Given the description of an element on the screen output the (x, y) to click on. 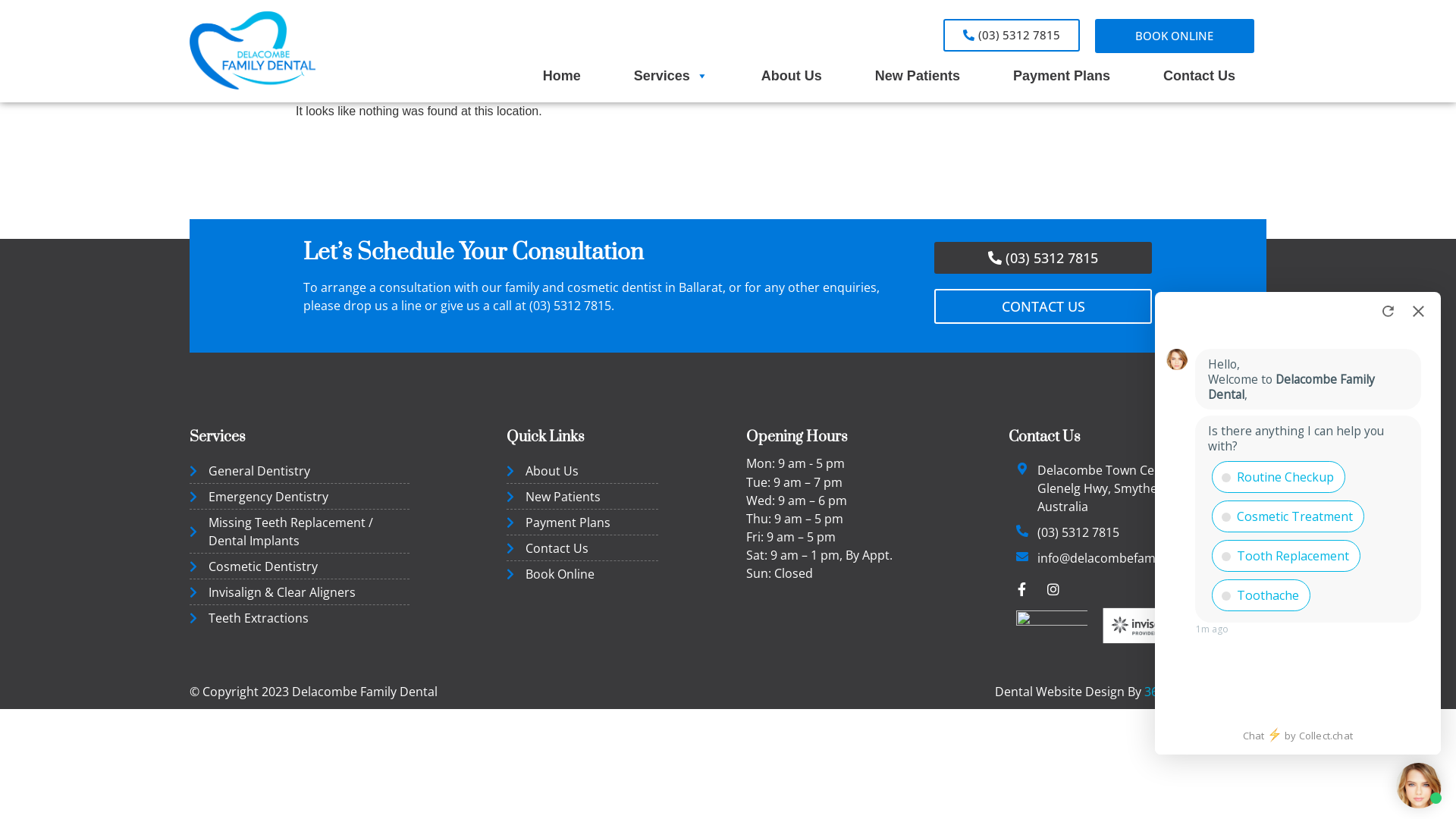
(03) 5312 7815 Element type: text (1078, 532)
info@delacombefamilydental.com.au Element type: text (1143, 557)
About Us Element type: text (791, 75)
(03) 5312 7815 Element type: text (570, 305)
BOOK ONLINE Element type: text (1174, 35)
Payment Plans Element type: text (1061, 75)
Invisalign & Clear Aligners Element type: text (299, 592)
(03) 5312 7815 Element type: text (1011, 34)
About Us Element type: text (582, 470)
Dental Website Design By 360 Dental Marketing Element type: text (1130, 691)
New Patients Element type: text (917, 75)
Services Element type: text (670, 75)
Home Element type: text (561, 75)
Payment Plans Element type: text (582, 522)
New Patients Element type: text (582, 496)
Missing Teeth Replacement / Dental Implants Element type: text (299, 531)
CONTACT US Element type: text (1043, 305)
Contact Us Element type: text (1198, 75)
Teeth Extractions Element type: text (299, 617)
Emergency Dentistry Element type: text (299, 496)
Contact Us Element type: text (582, 548)
General Dentistry Element type: text (299, 470)
(03) 5312 7815 Element type: text (1043, 257)
Book Online Element type: text (582, 573)
Cosmetic Dentistry Element type: text (299, 566)
